Given the description of an element on the screen output the (x, y) to click on. 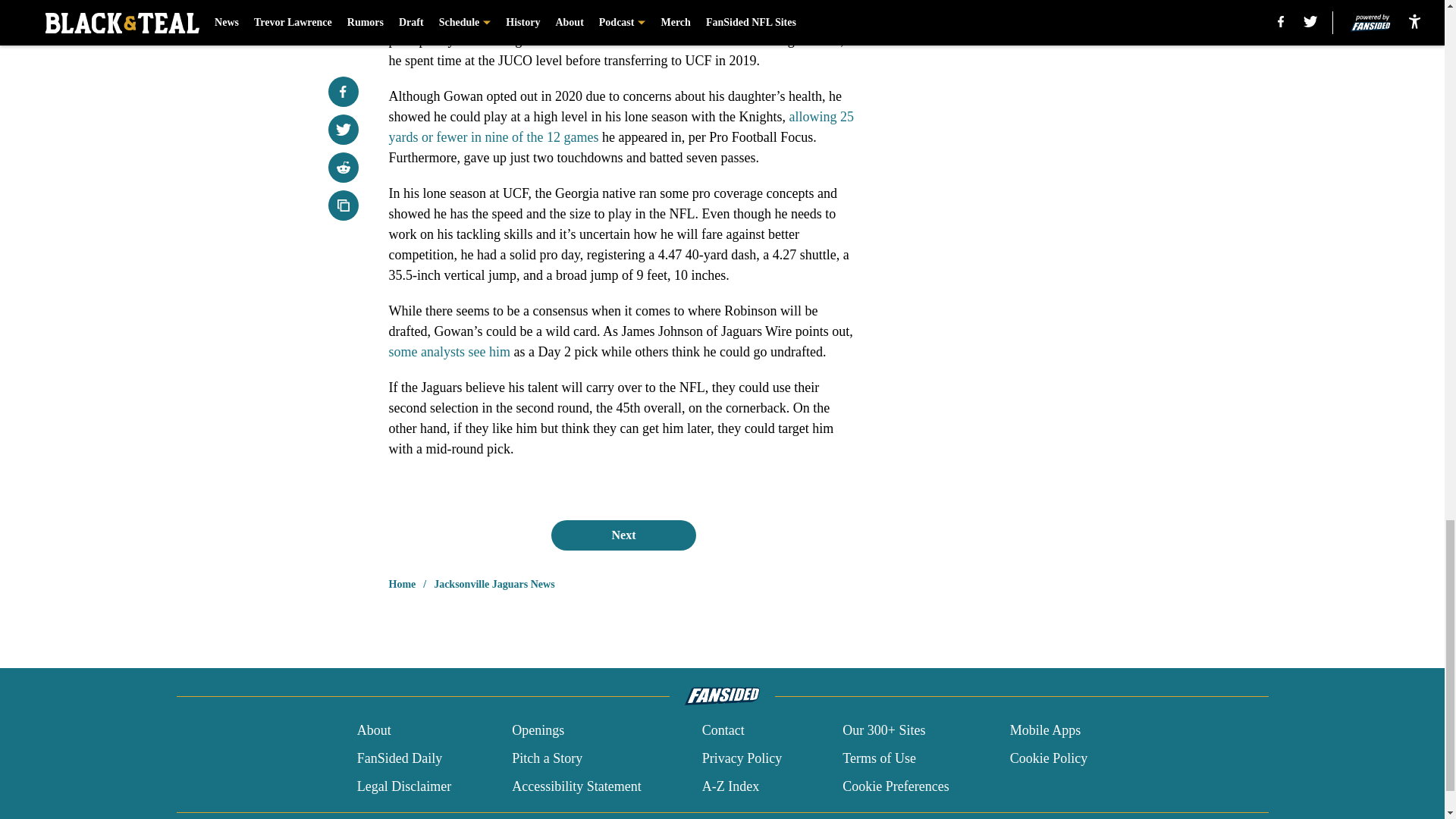
Privacy Policy (742, 758)
Jacksonville Jaguars News (493, 584)
FanSided Daily (399, 758)
some analysts see him (448, 351)
Openings (538, 730)
Next (622, 535)
allowing 25 yards or fewer in nine of the 12 games (620, 126)
About (373, 730)
Contact (722, 730)
Mobile Apps (1045, 730)
